Given the description of an element on the screen output the (x, y) to click on. 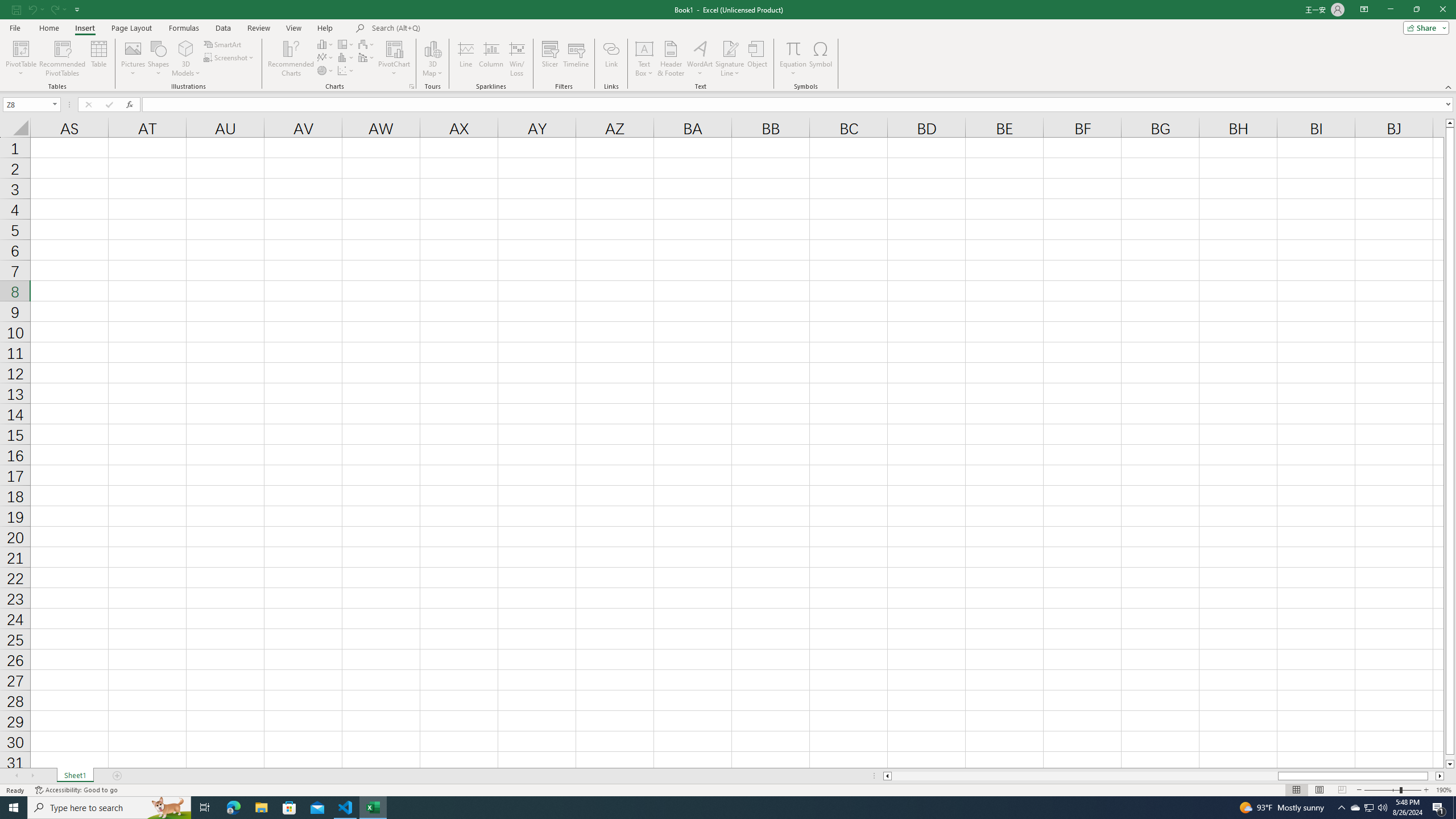
Insert Combo Chart (366, 56)
Insert Statistic Chart (346, 56)
